Given the description of an element on the screen output the (x, y) to click on. 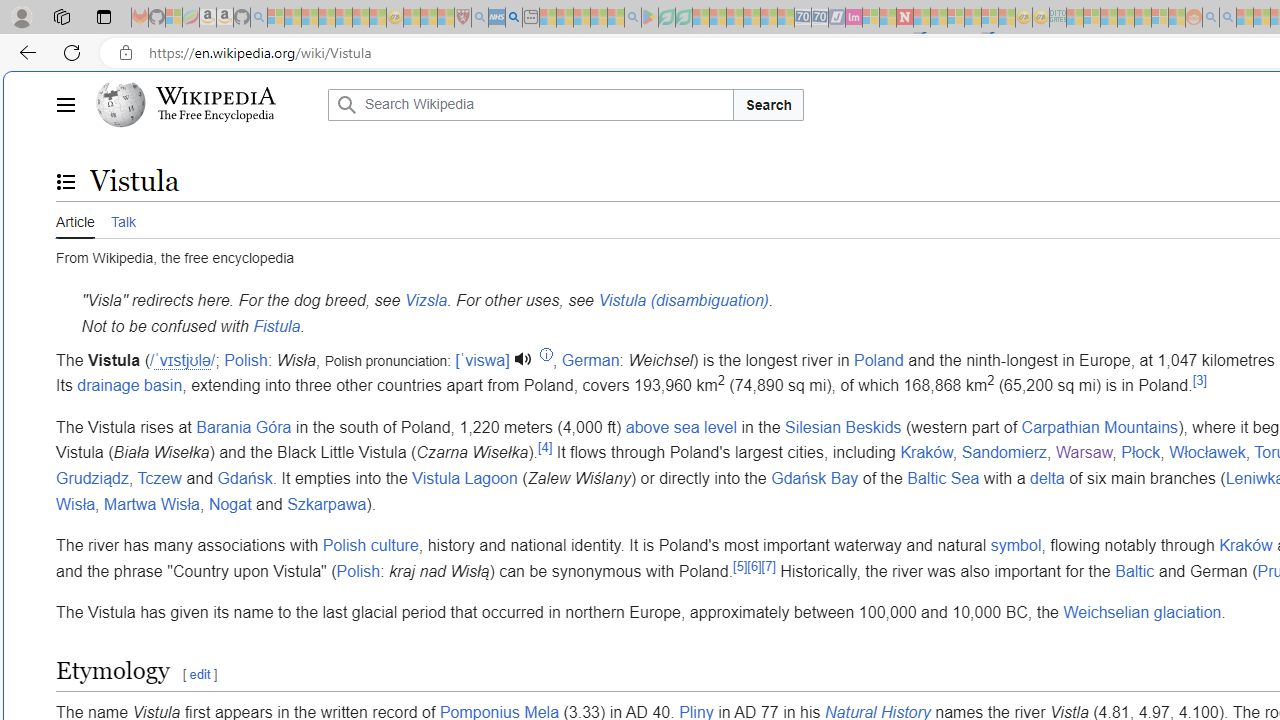
Carpathian Mountains (1099, 427)
[7] (768, 565)
New tab - Sleeping (530, 17)
Nogat (229, 503)
Jobs - lastminute.com Investor Portal - Sleeping (853, 17)
The Weather Channel - MSN - Sleeping (309, 17)
Microsoft-Report a Concern to Bing - Sleeping (173, 17)
Vistula (disambiguation) (683, 301)
drainage basin (129, 386)
google - Search - Sleeping (632, 17)
Local - MSN - Sleeping (445, 17)
